Given the description of an element on the screen output the (x, y) to click on. 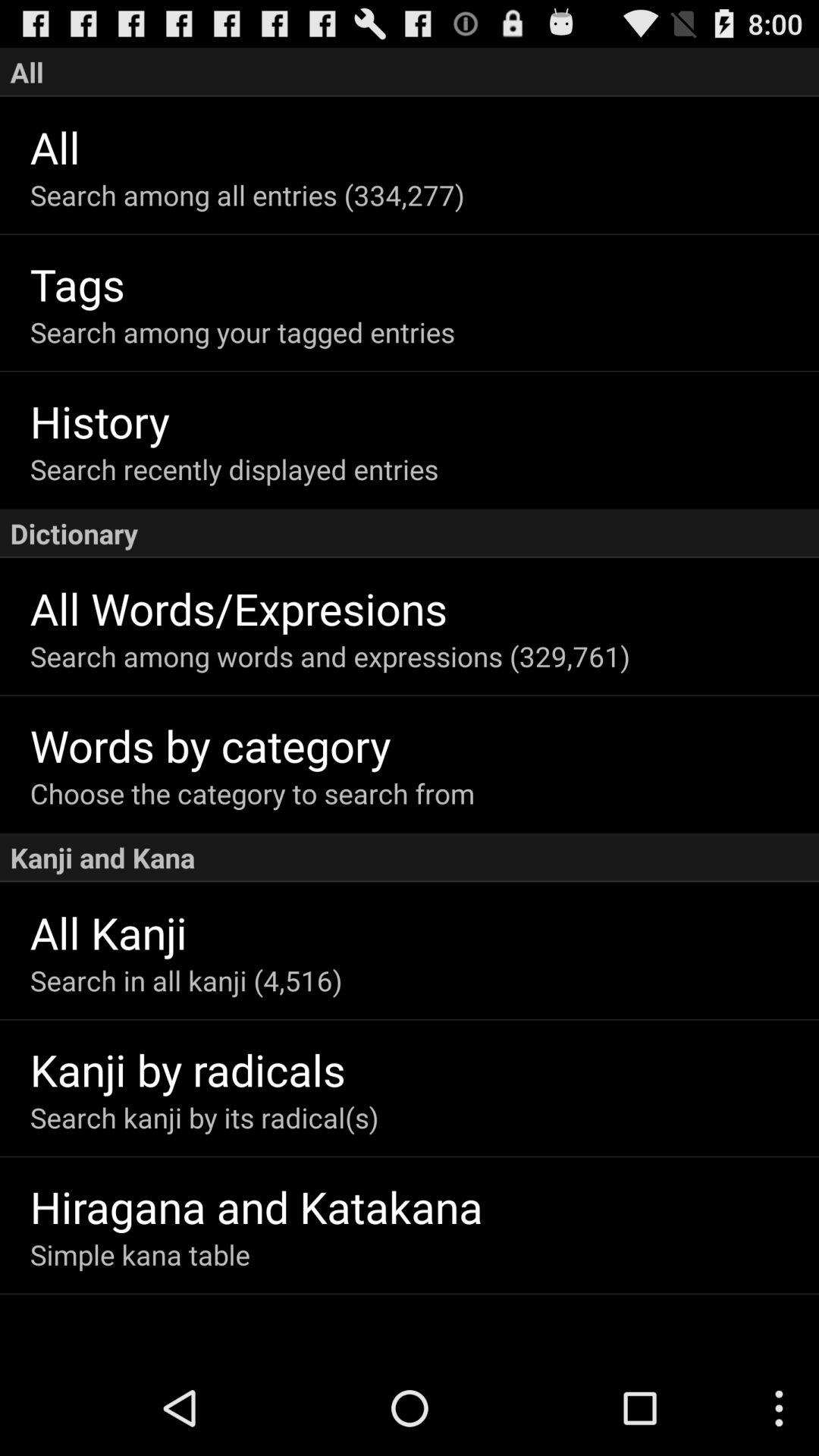
choose the icon above all words/expresions icon (409, 533)
